Given the description of an element on the screen output the (x, y) to click on. 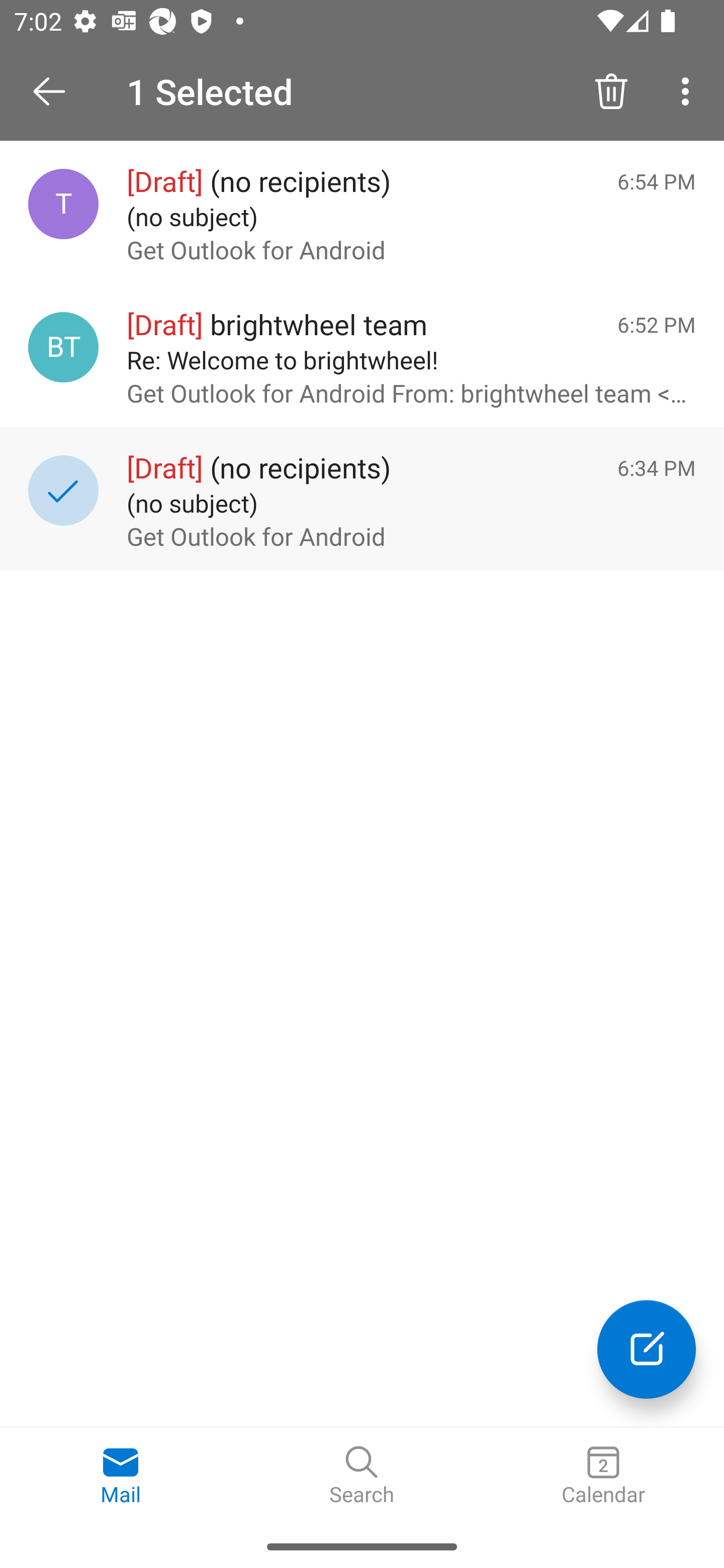
Delete (611, 90)
More options (688, 90)
Open Navigation Drawer (55, 91)
testappium001@outlook.com (63, 204)
brightwheel team, testappium001@outlook.com (63, 347)
Compose (646, 1348)
Search (361, 1475)
Calendar (603, 1475)
